Given the description of an element on the screen output the (x, y) to click on. 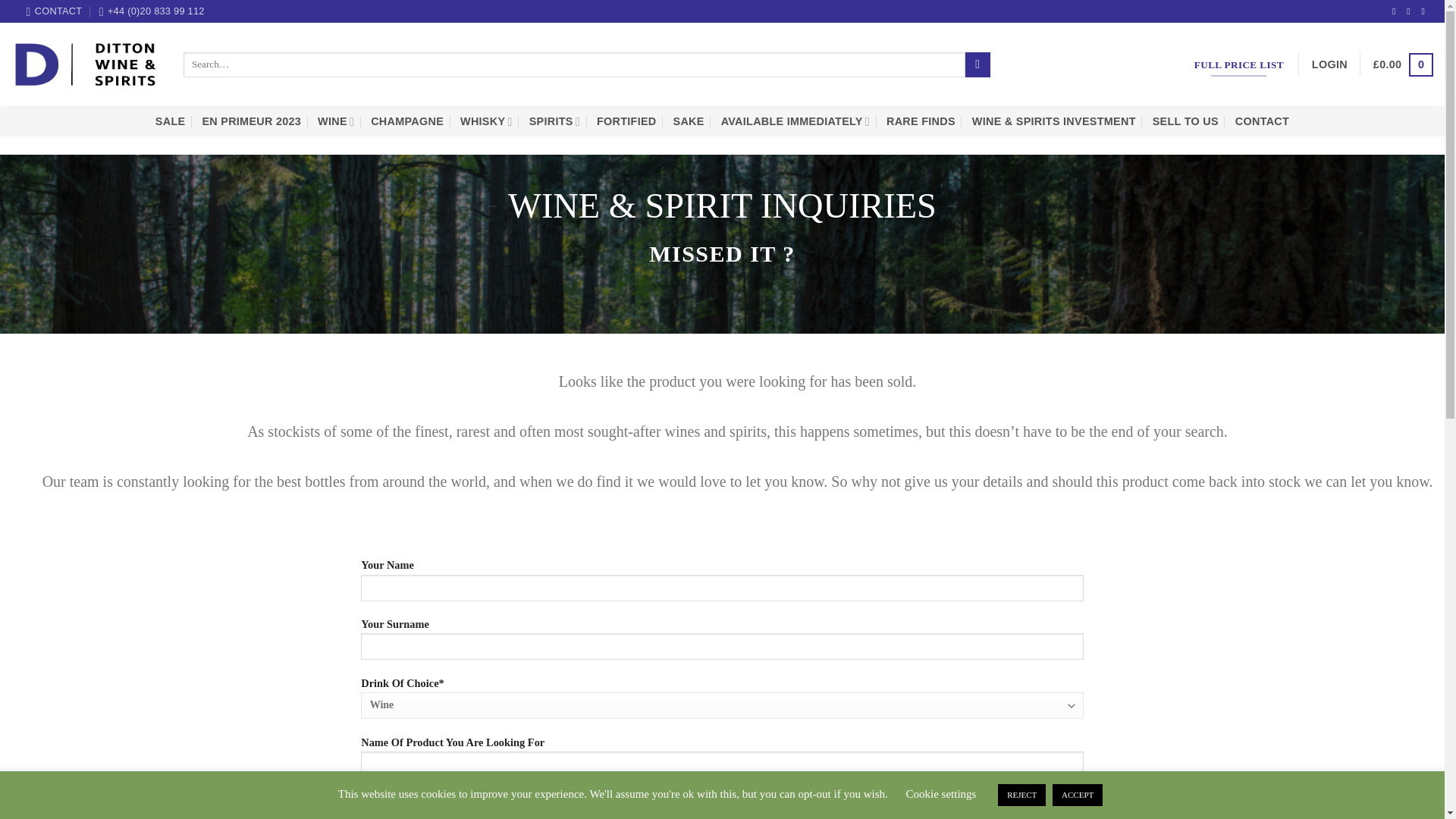
LOGIN (1329, 63)
SALE (170, 121)
CONTACT (54, 11)
EN PRIMEUR 2023 (251, 121)
Basket (1402, 63)
FULL PRICE LIST (1238, 64)
Search (977, 64)
WINE (335, 121)
Login (1329, 63)
Ditton Wine and Spirits (85, 63)
